Given the description of an element on the screen output the (x, y) to click on. 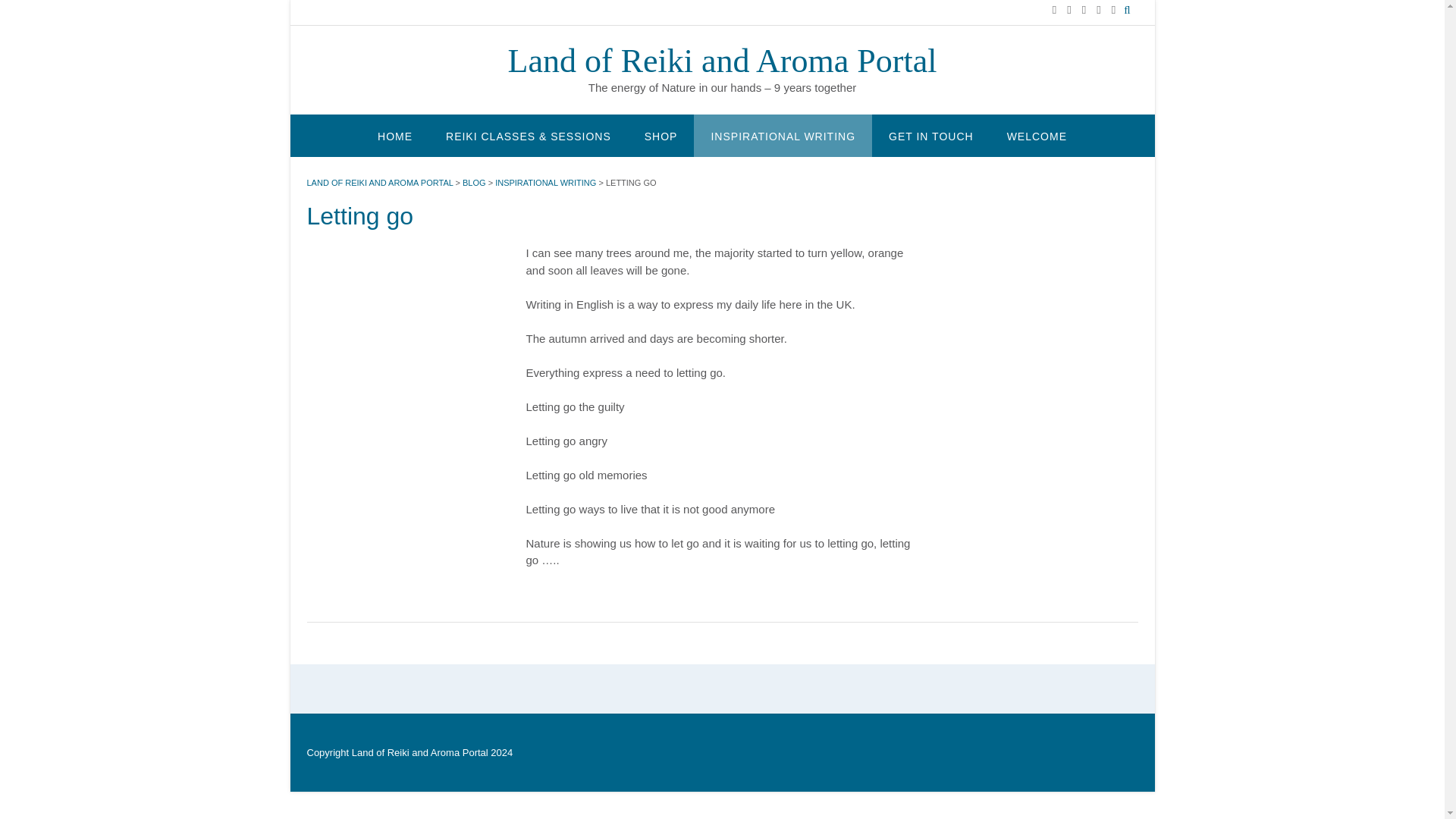
SHOP (660, 134)
Follow me on Instagram (1083, 9)
WELCOME (1036, 134)
View my YouTube Channel (1068, 9)
Go to Blog. (474, 181)
HOME (395, 134)
Follow me on Spotify (1097, 9)
LAND OF REIKI AND AROMA PORTAL (378, 181)
INSPIRATIONAL WRITING (545, 181)
Land of Reiki and Aroma Portal (722, 60)
Go to the Inspirational Writing Category archives. (545, 181)
INSPIRATIONAL WRITING (783, 134)
Find me on Facebook (1053, 9)
BLOG (474, 181)
Go to Land of Reiki and Aroma Portal. (378, 181)
